Given the description of an element on the screen output the (x, y) to click on. 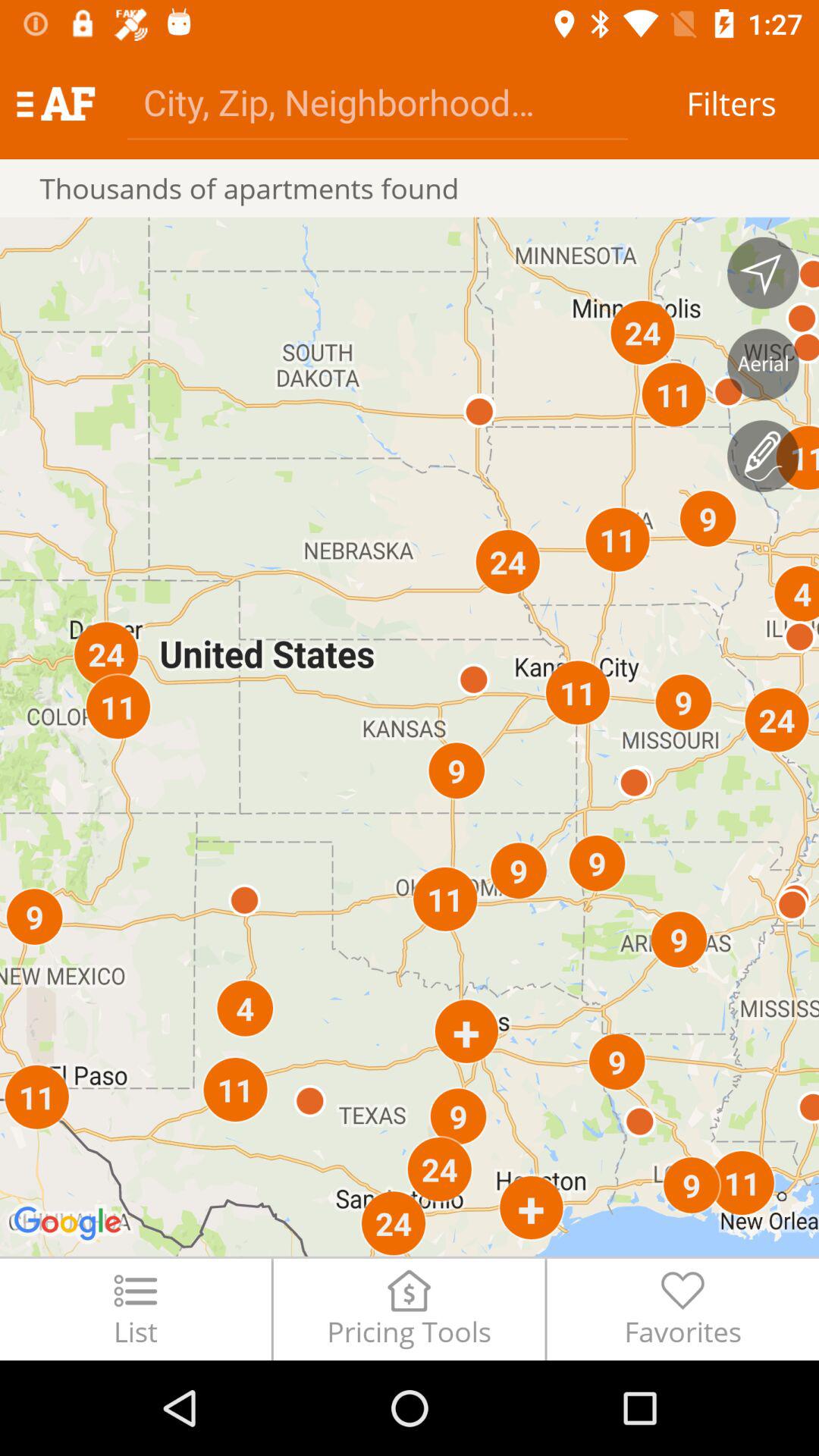
drawing tool (763, 455)
